Given the description of an element on the screen output the (x, y) to click on. 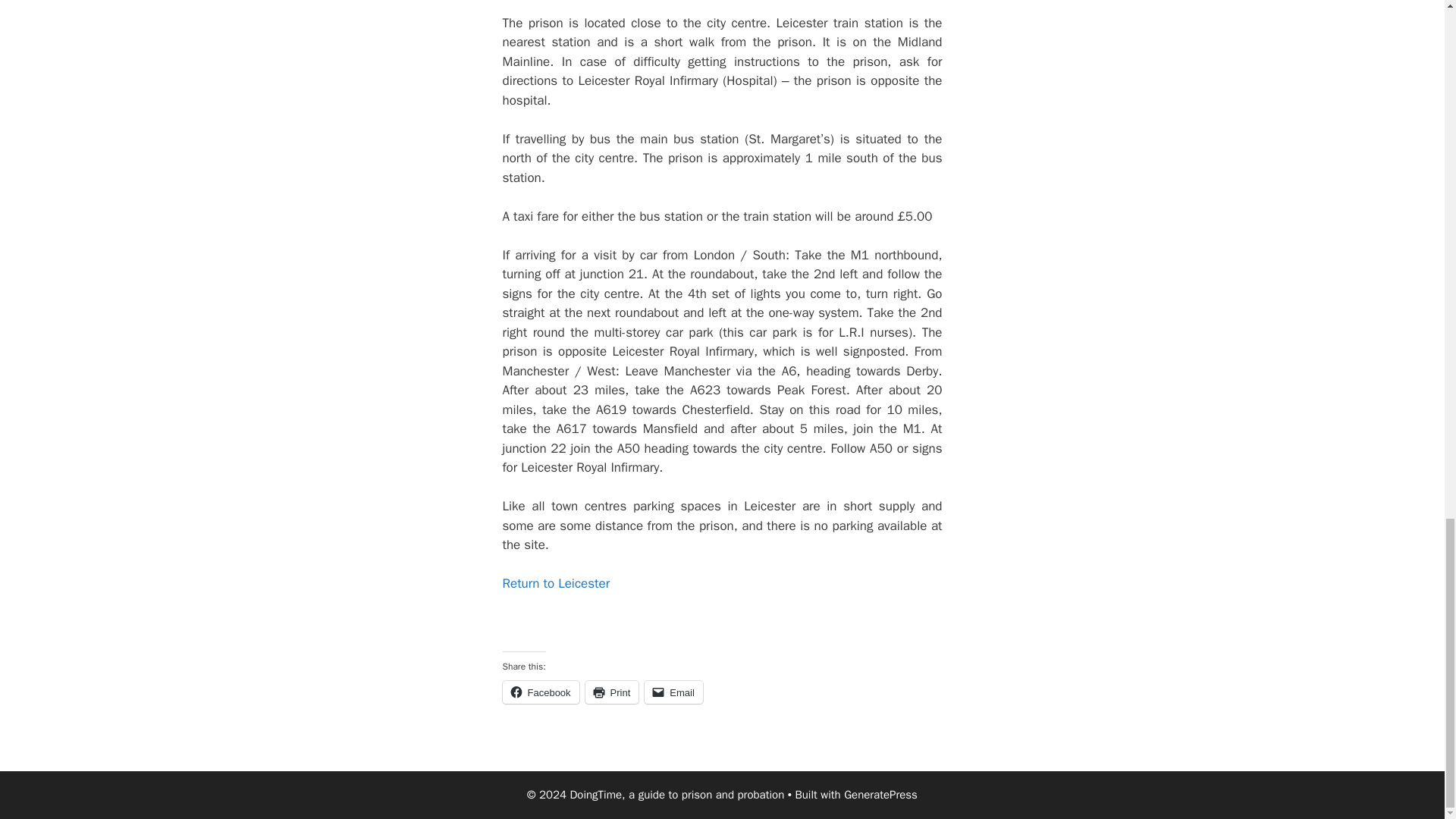
Click to email a link to a friend (674, 691)
Scroll back to top (1406, 98)
Click to share on Facebook (540, 691)
Click to print (612, 691)
HMP Leicester (556, 583)
